Given the description of an element on the screen output the (x, y) to click on. 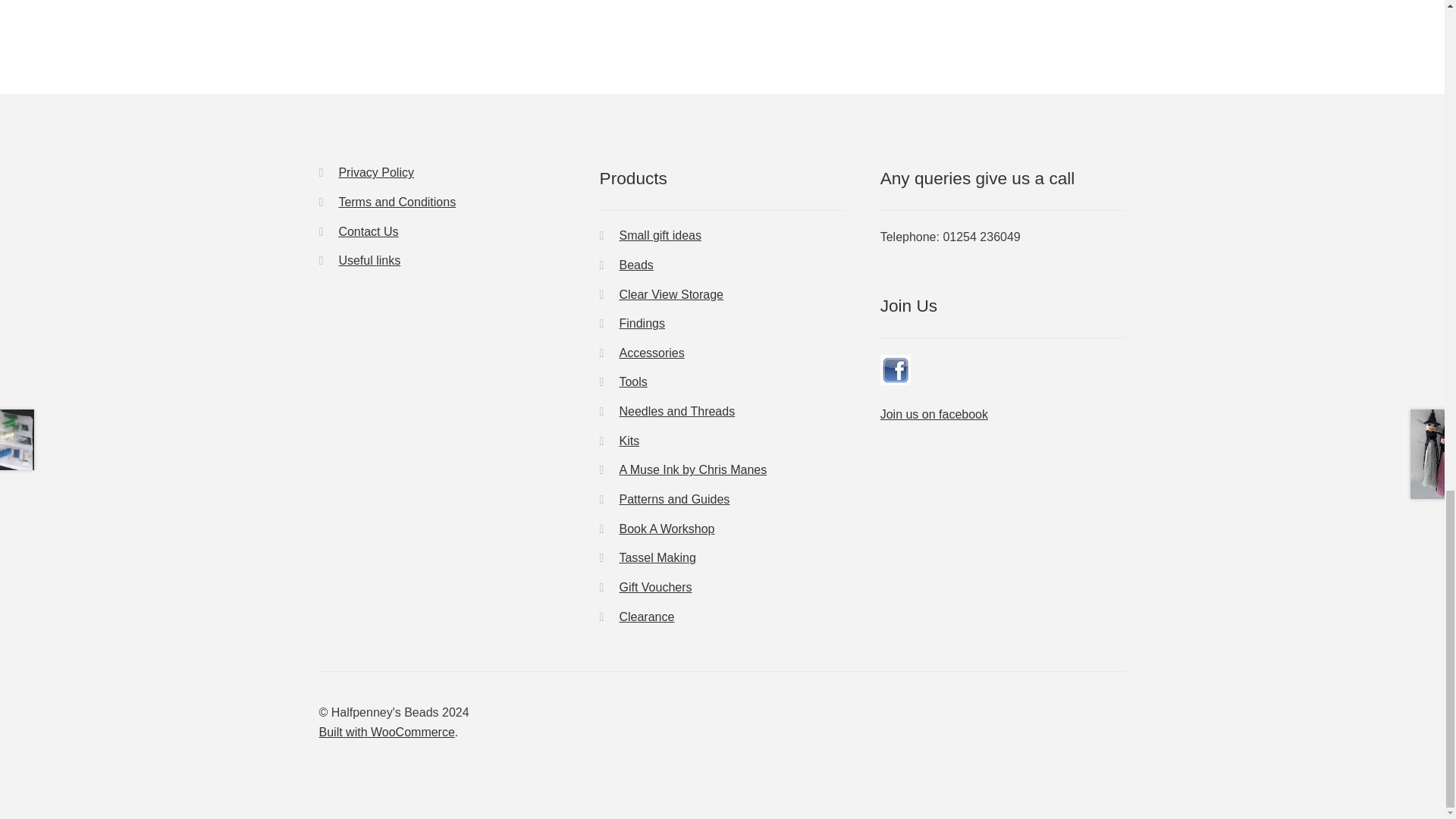
WooCommerce - The Best eCommerce Platform for WordPress (386, 731)
